Given the description of an element on the screen output the (x, y) to click on. 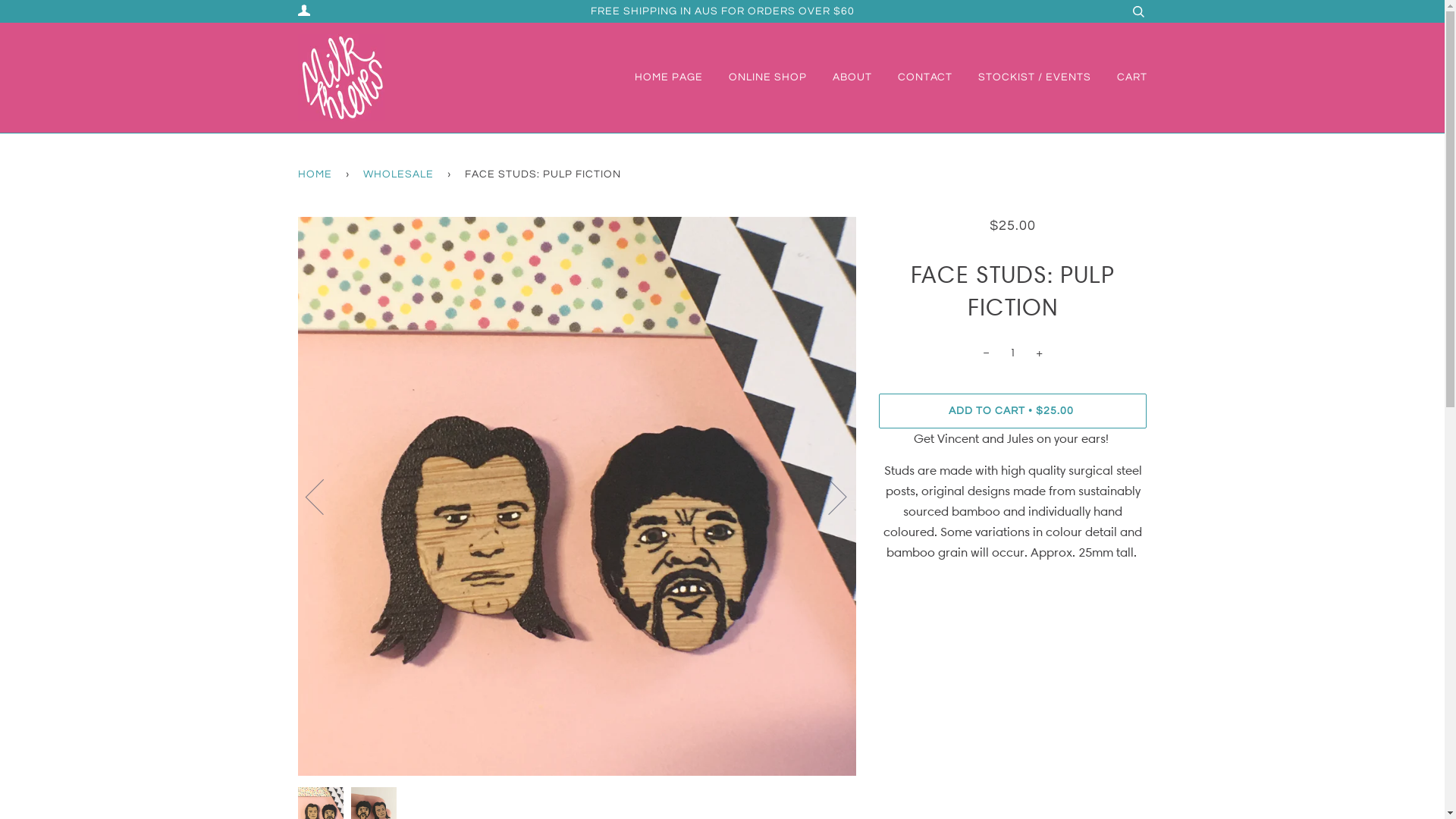
Search Element type: hover (1137, 11)
Previous Element type: text (322, 495)
ABOUT Element type: text (840, 76)
WHOLESALE Element type: text (400, 175)
ONLINE SHOP Element type: text (755, 76)
STOCKIST / EVENTS Element type: text (1023, 76)
HOME PAGE Element type: text (664, 76)
CART Element type: text (1119, 76)
CONTACT Element type: text (913, 76)
Next Element type: text (828, 495)
HOME Element type: text (316, 175)
